Given the description of an element on the screen output the (x, y) to click on. 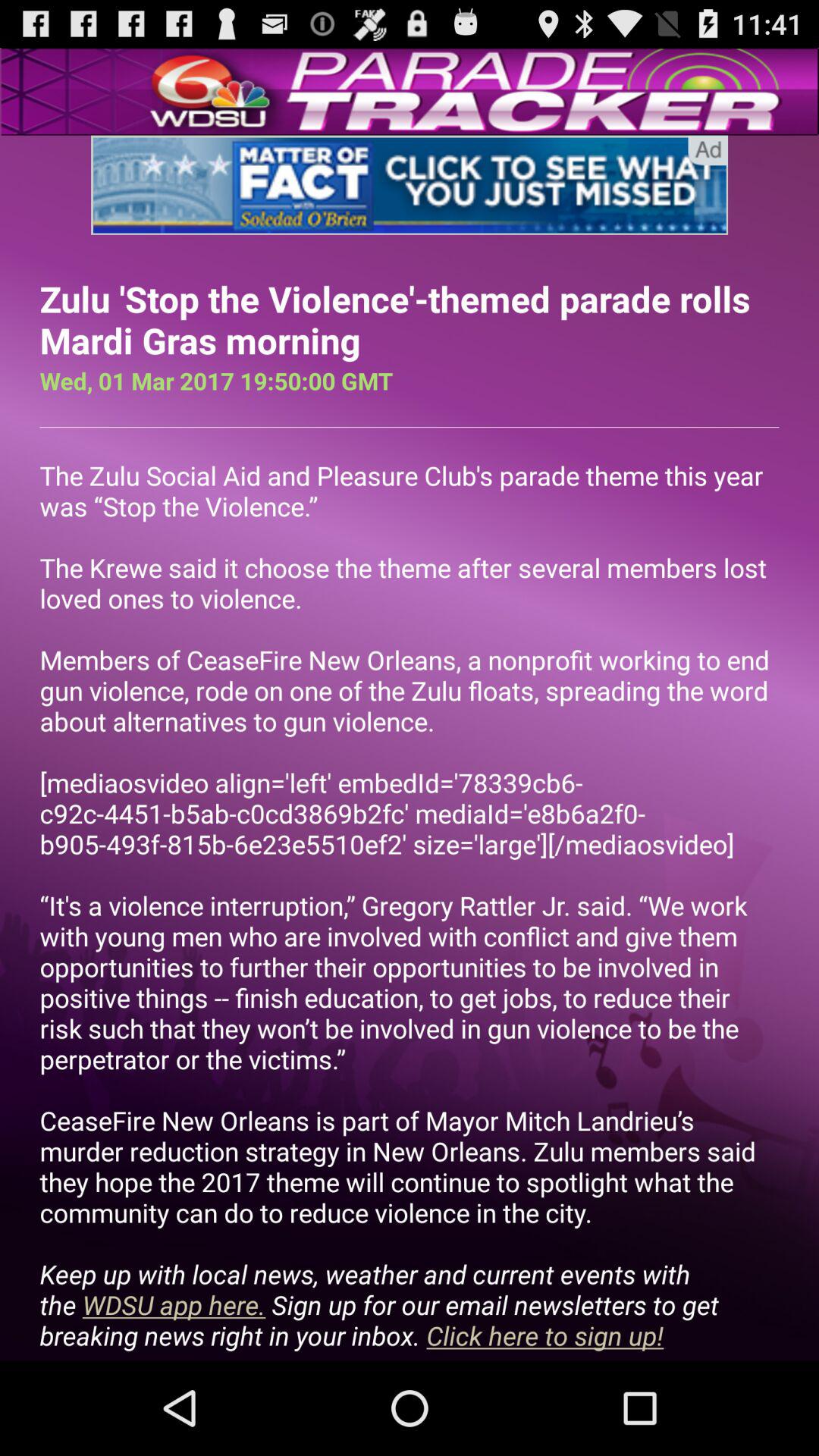
for adveisment (409, 184)
